Given the description of an element on the screen output the (x, y) to click on. 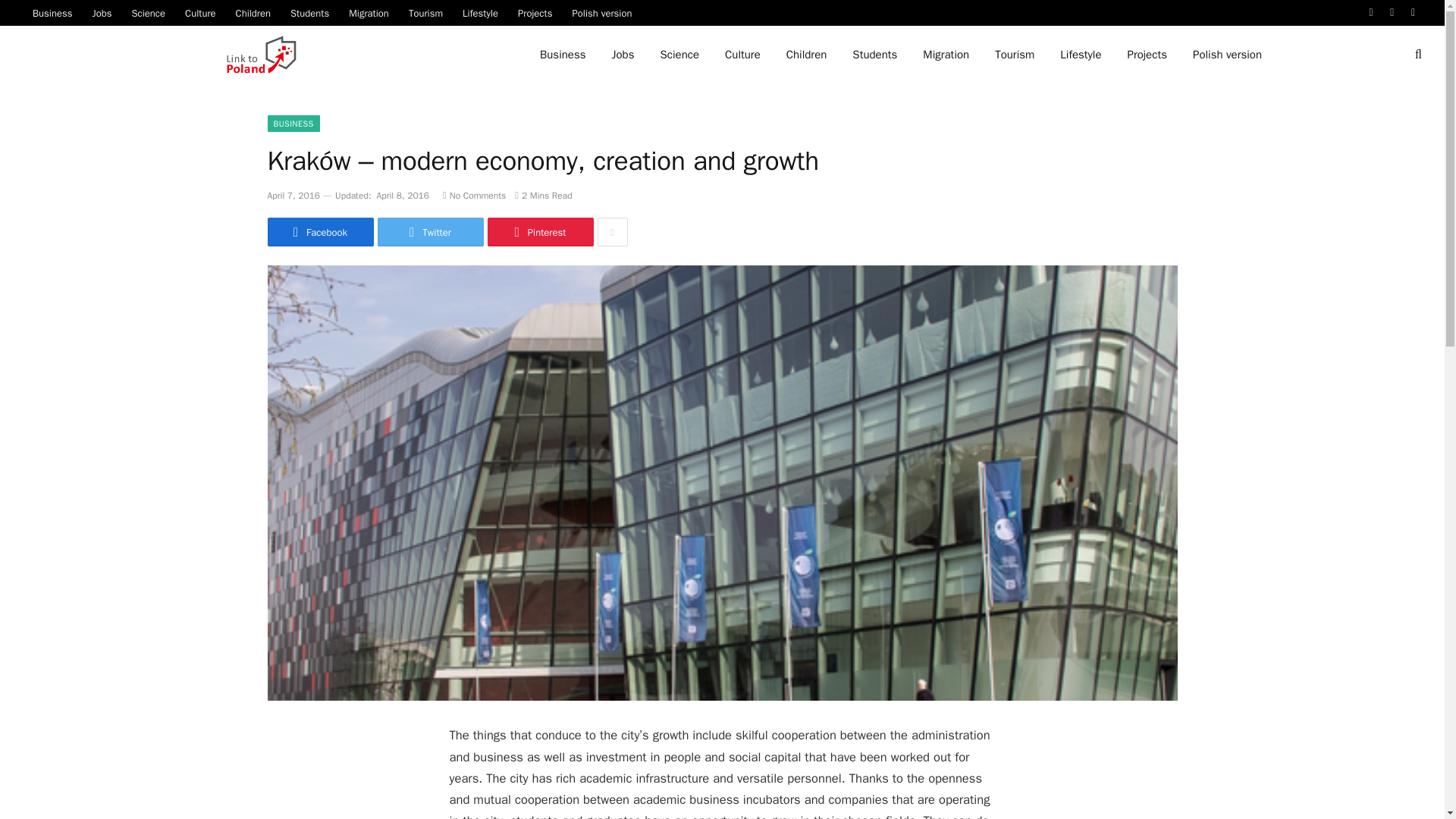
Students (310, 12)
Business (52, 12)
Projects (535, 12)
Lifestyle (1079, 54)
Show More Social Sharing (611, 231)
Tourism (1013, 54)
Projects (1147, 54)
Link to Poland (261, 54)
Children (806, 54)
Students (875, 54)
